Given the description of an element on the screen output the (x, y) to click on. 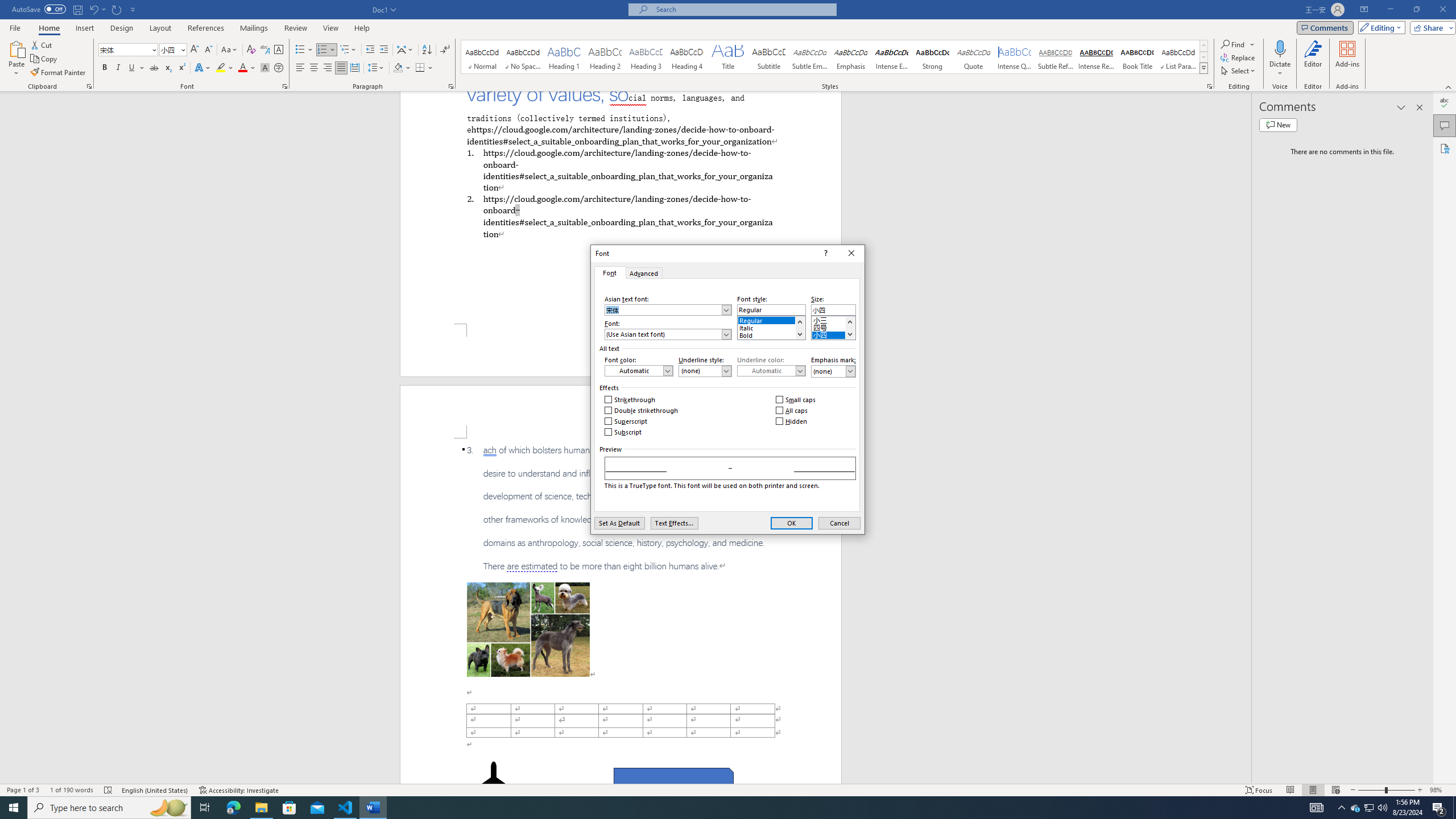
User Promoted Notification Area (1368, 807)
Underline (136, 67)
AutomationID: QuickStylesGallery (834, 56)
AutomationID: 1797 (849, 327)
Microsoft search (742, 9)
Increase Indent (383, 49)
Italic (118, 67)
Font Size (169, 49)
Editing (1379, 27)
Search highlights icon opens search home window (167, 807)
Minimize (1390, 9)
Emphasis (849, 56)
Heading 2 (605, 56)
Intense Reference (1095, 56)
Insert (83, 28)
